Given the description of an element on the screen output the (x, y) to click on. 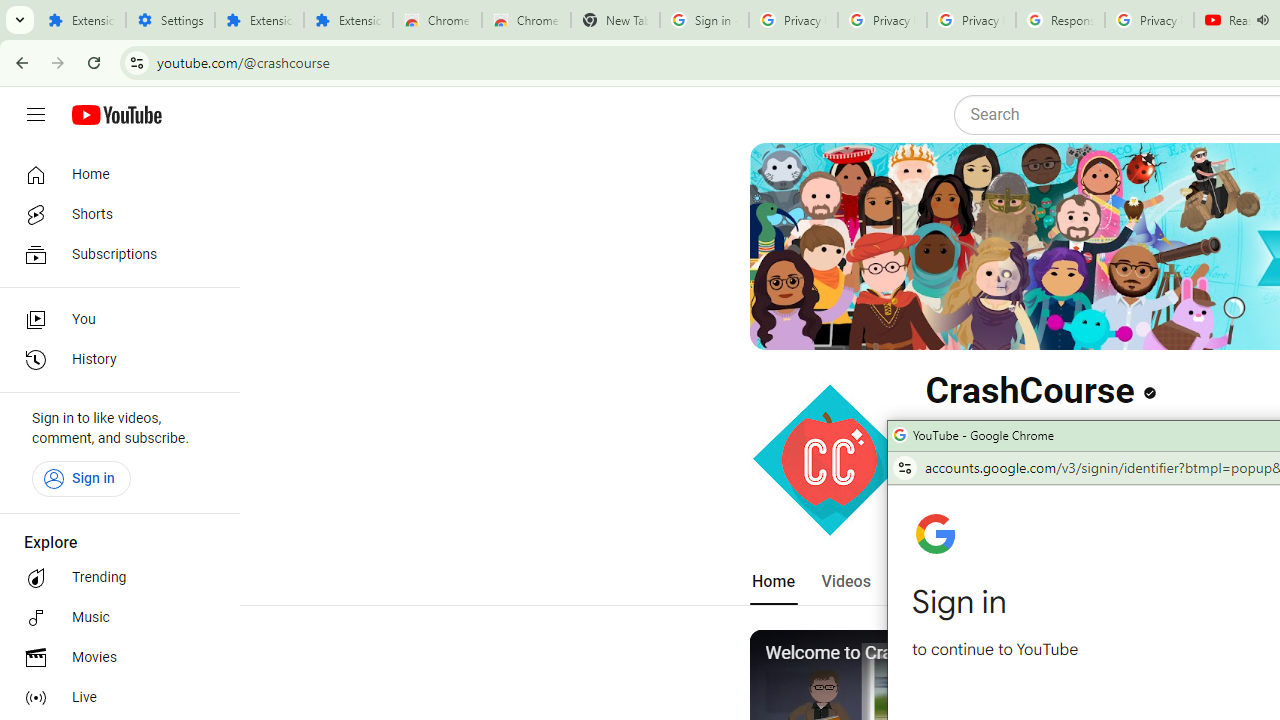
Shorts (113, 214)
Settings (170, 20)
Guide (35, 115)
Subscriptions (113, 254)
Extensions (347, 20)
New Tab (615, 20)
Videos (845, 581)
Trending (113, 578)
History (113, 359)
Extensions (81, 20)
